Given the description of an element on the screen output the (x, y) to click on. 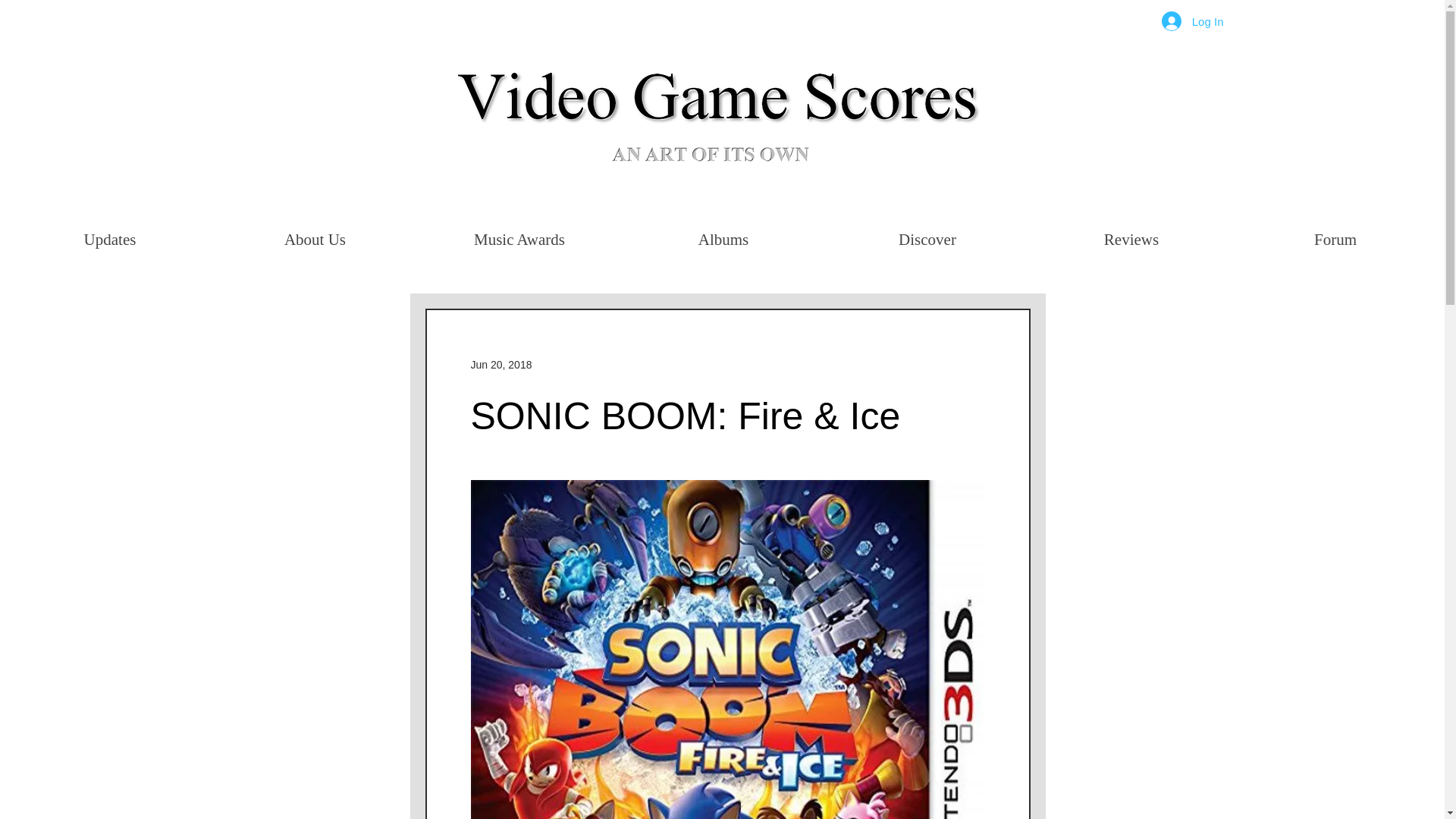
Updates (109, 239)
Discover (927, 239)
Jun 20, 2018 (500, 363)
About Us (314, 239)
Forum (1335, 239)
Reviews (1131, 239)
Log In (1192, 21)
